Given the description of an element on the screen output the (x, y) to click on. 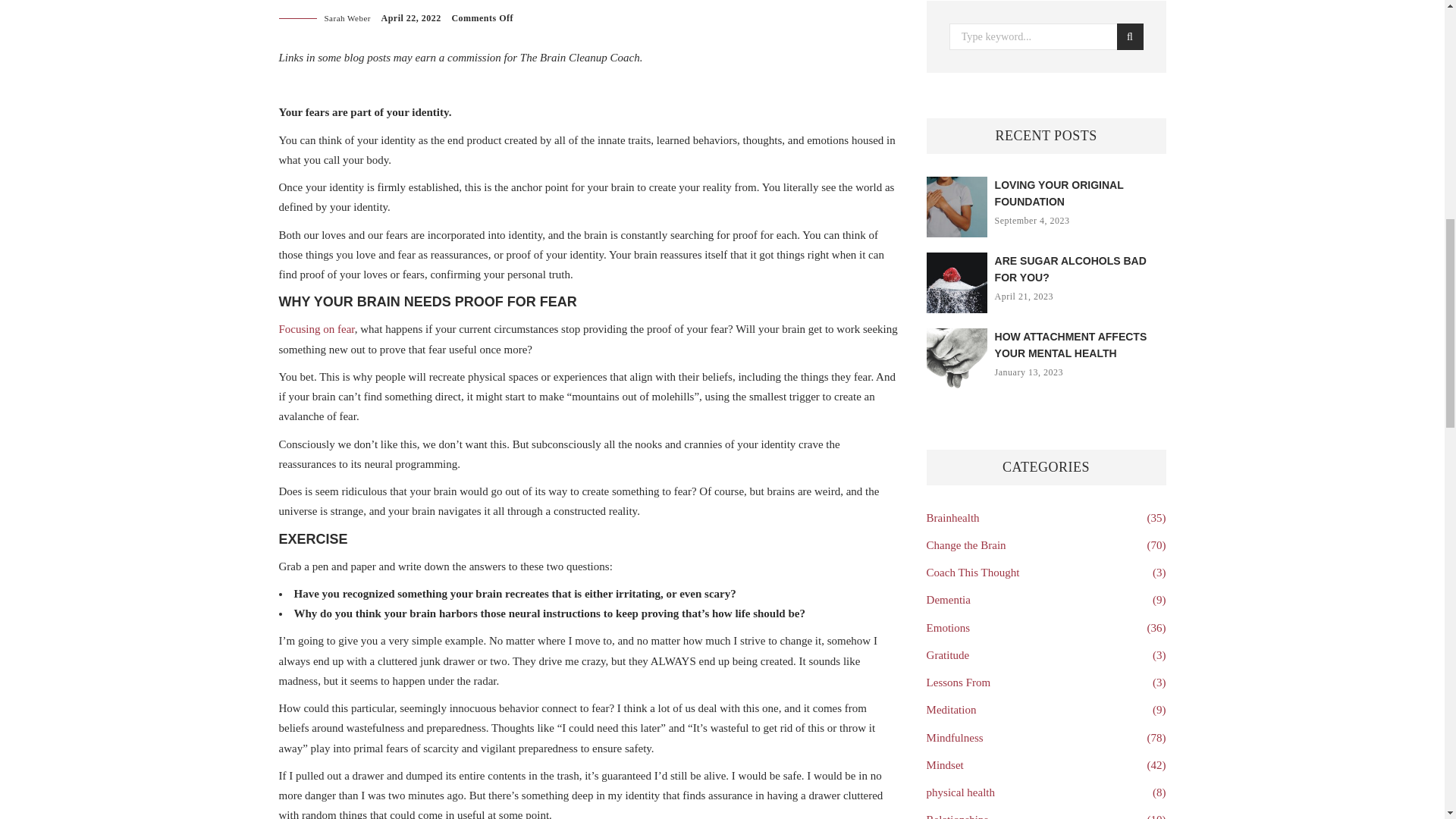
Posts by Sarah Weber (347, 17)
Loving your original foundation (1059, 193)
Sarah Weber (347, 17)
Focusing on fear (317, 328)
How Attachment affects your Mental Health (1070, 344)
Are sugar alcohols bad for you? (1070, 268)
